Given the description of an element on the screen output the (x, y) to click on. 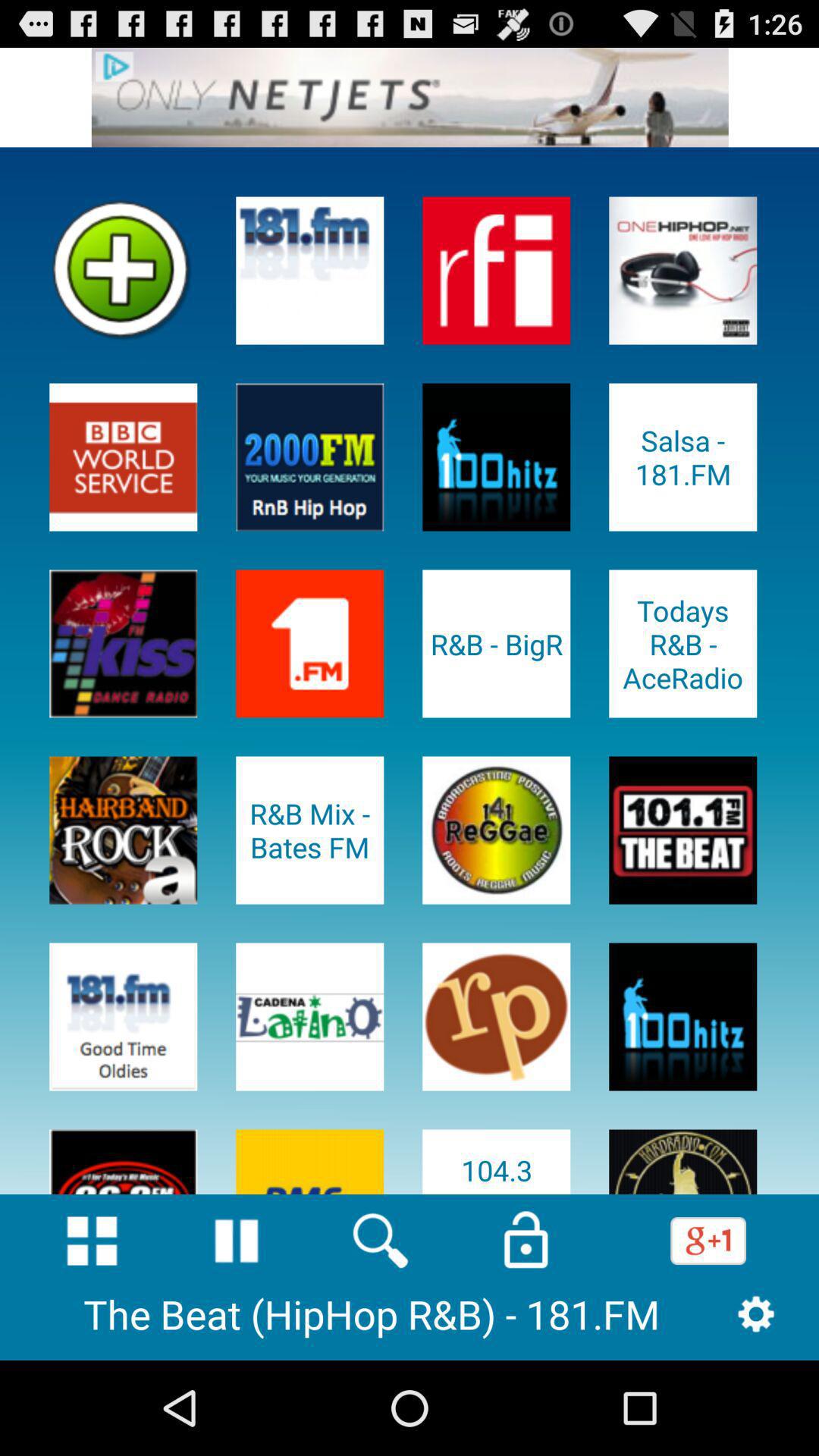
go to puse button (236, 1240)
